Given the description of an element on the screen output the (x, y) to click on. 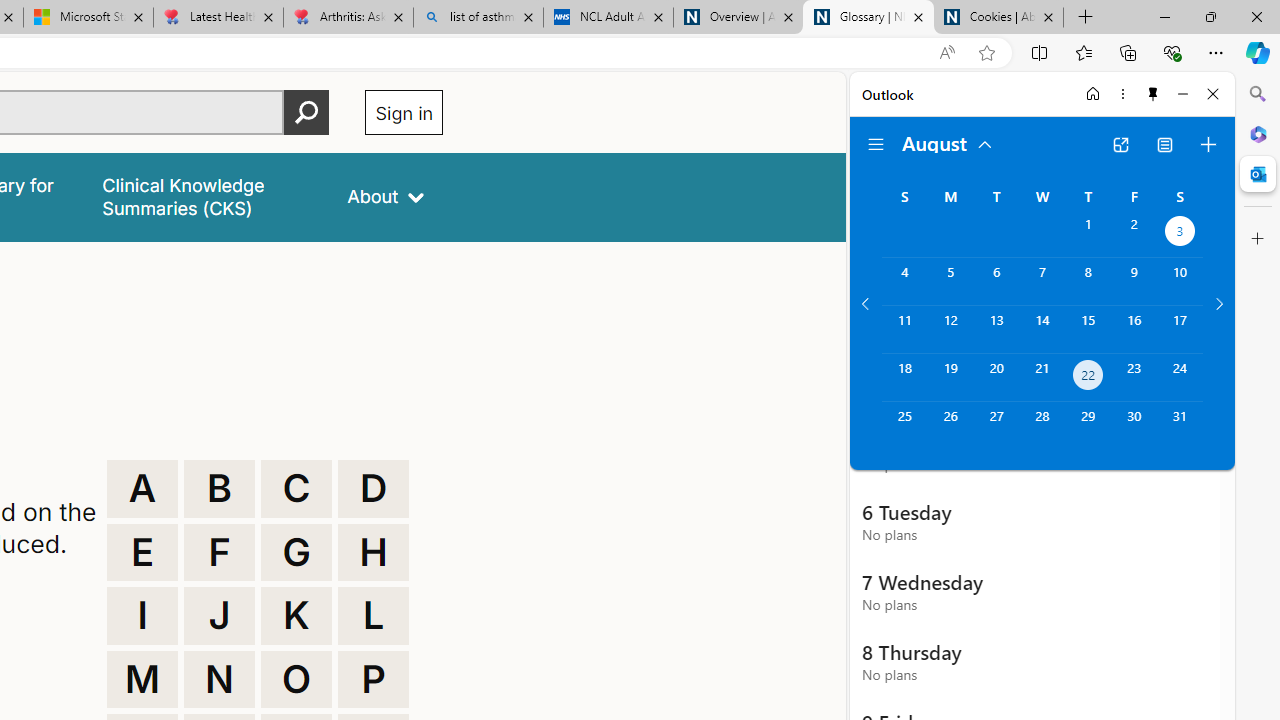
G (296, 551)
Friday, August 9, 2024.  (1134, 281)
View Switcher. Current view is Agenda view (1165, 144)
O (296, 679)
F (219, 551)
Thursday, August 1, 2024.  (1088, 233)
false (207, 196)
Saturday, August 31, 2024.  (1180, 425)
B (219, 488)
Sunday, August 4, 2024.  (904, 281)
Monday, August 19, 2024.  (950, 377)
K (296, 615)
